Given the description of an element on the screen output the (x, y) to click on. 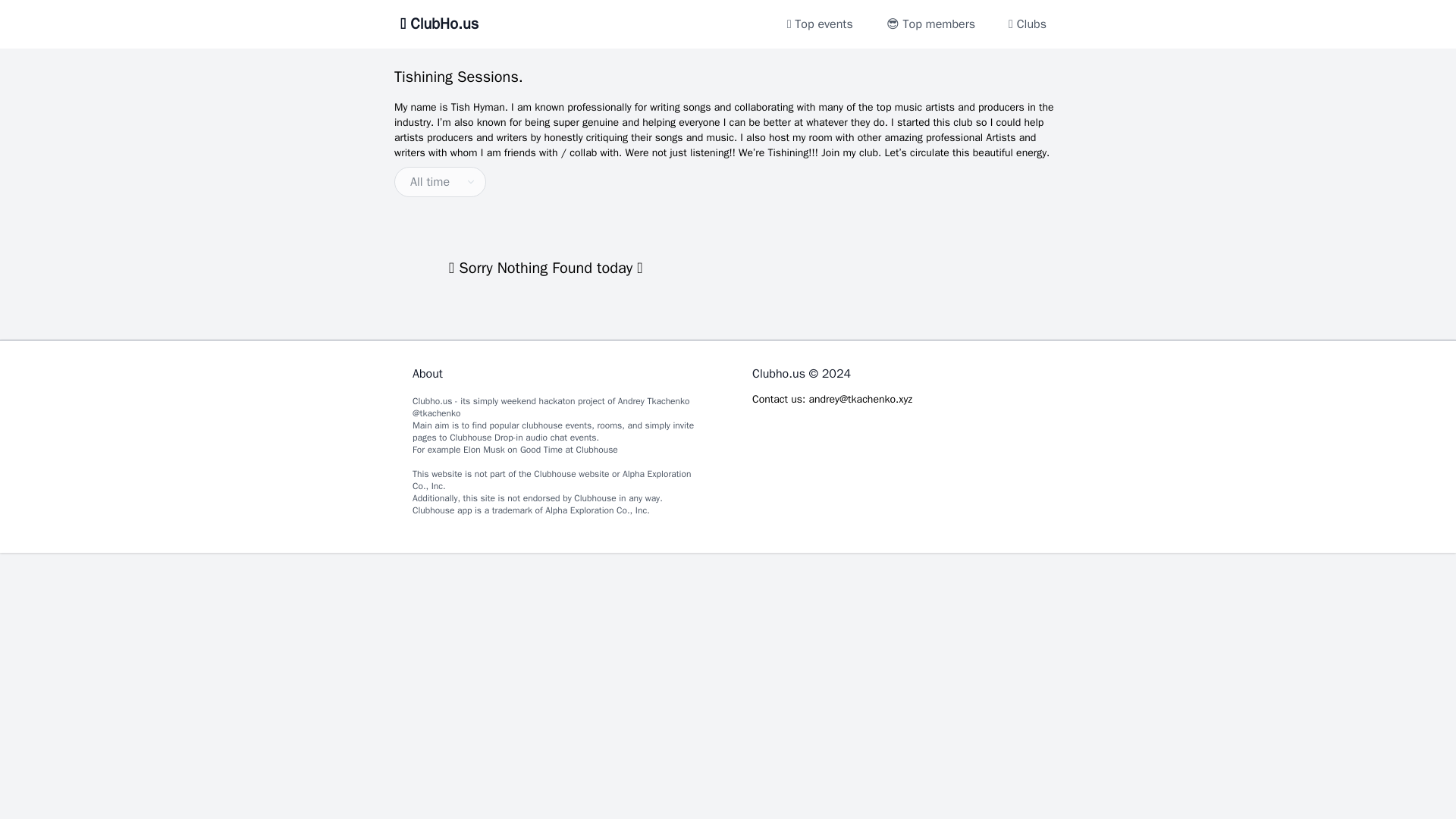
Elon Musk on Good Time (512, 449)
